Given the description of an element on the screen output the (x, y) to click on. 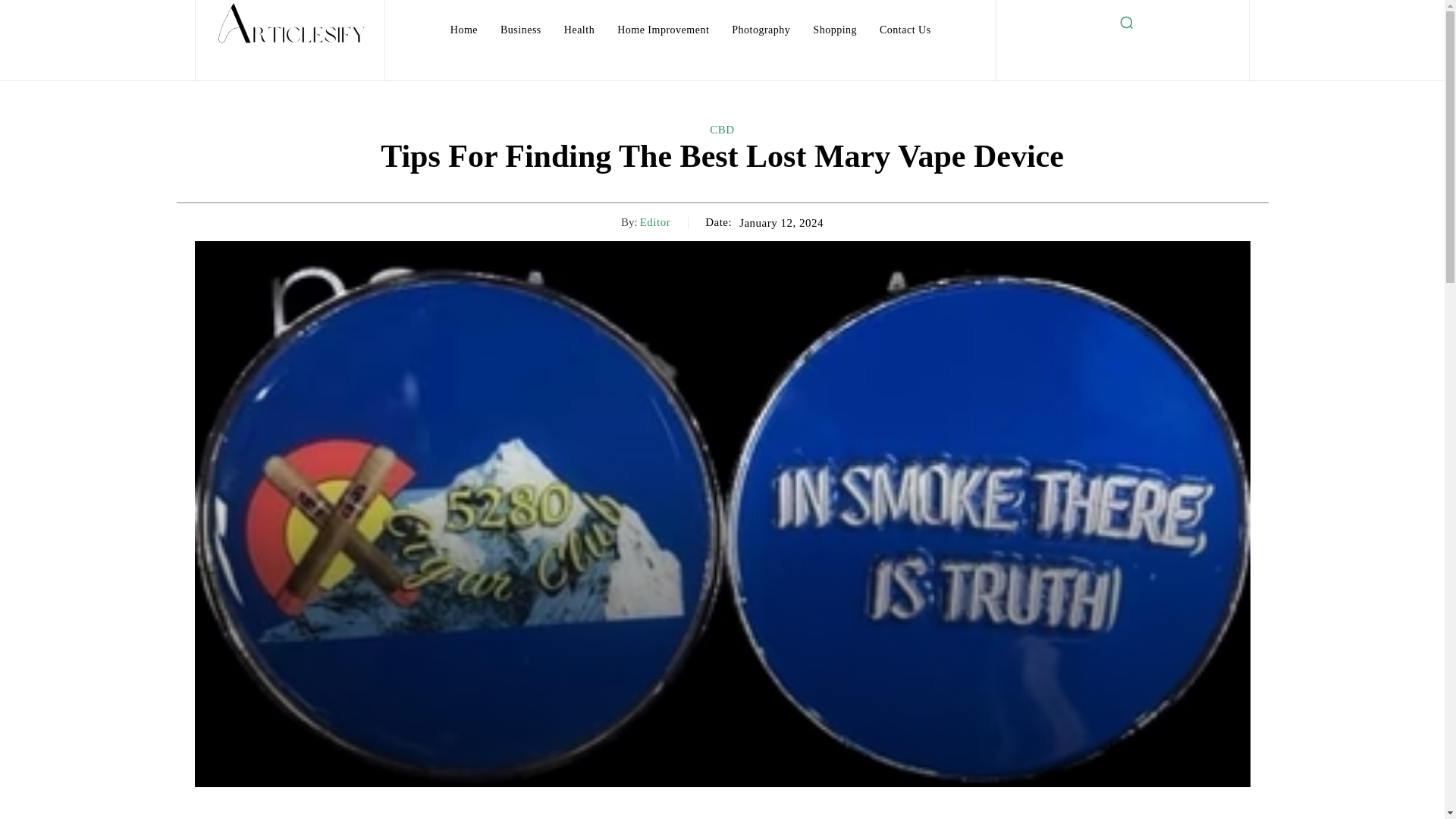
Home Improvement (663, 30)
Contact Us (905, 30)
Photography (760, 30)
Editor (655, 222)
Business (520, 30)
CBD (721, 129)
Shopping (834, 30)
